Given the description of an element on the screen output the (x, y) to click on. 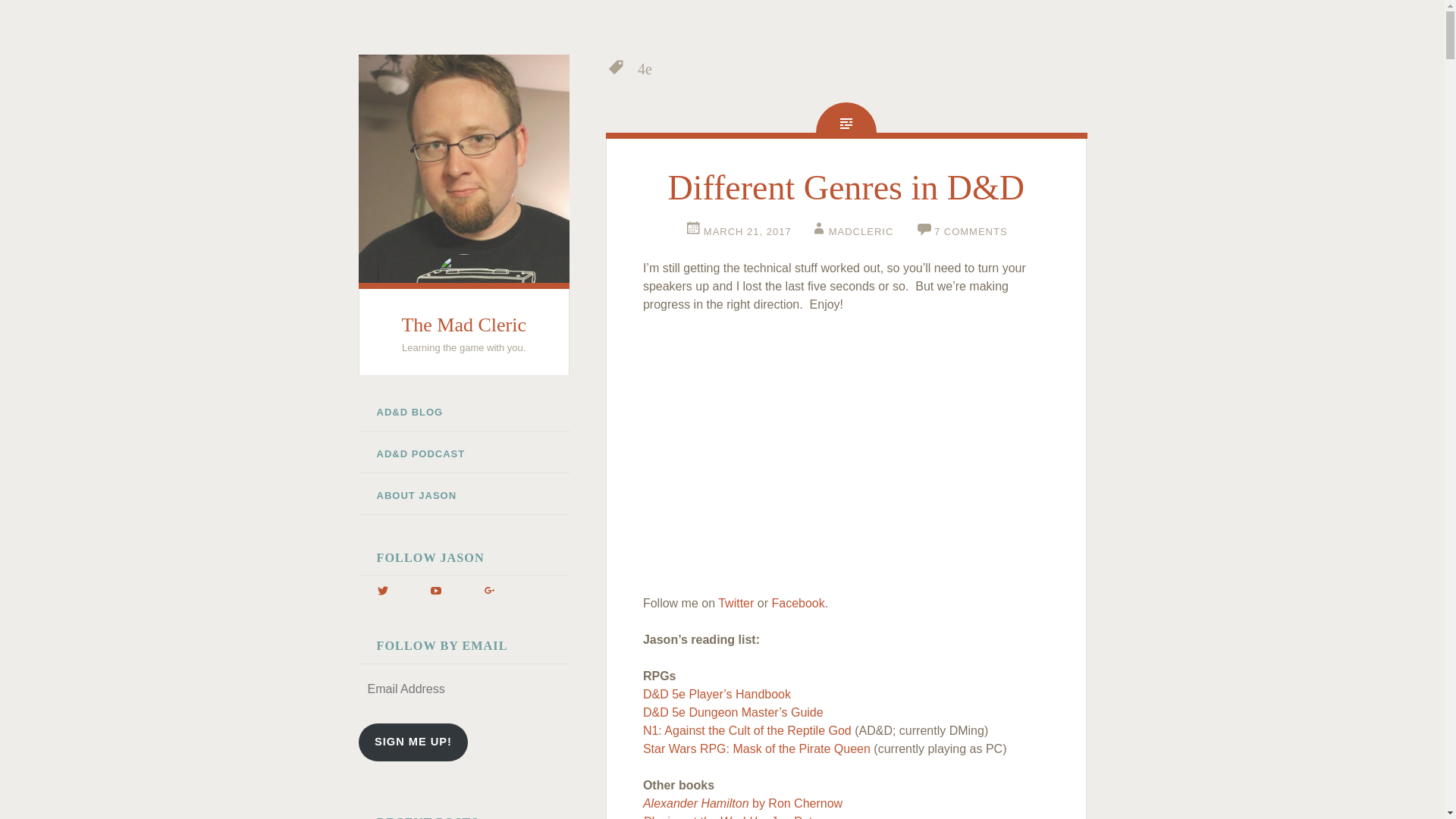
View all posts by MadCleric (851, 231)
SIGN ME UP! (412, 742)
The Mad Cleric (463, 324)
Facebook (797, 603)
MARCH 21, 2017 (738, 231)
7 COMMENTS (961, 231)
11:27 am (738, 231)
ABOUT JASON (463, 496)
SKIP TO CONTENT (376, 402)
Twitter (735, 603)
